Given the description of an element on the screen output the (x, y) to click on. 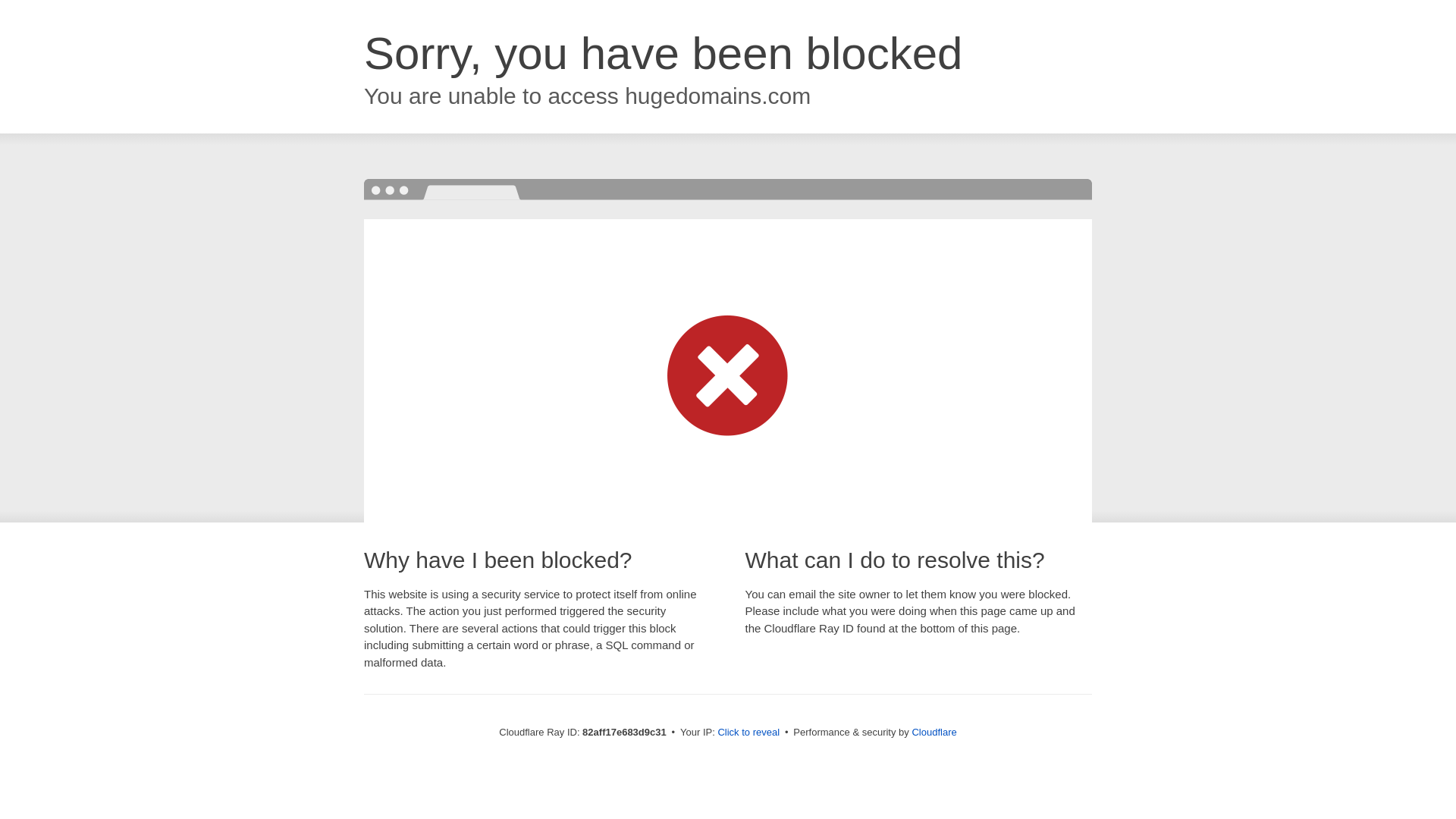
Click to reveal Element type: text (748, 732)
Cloudflare Element type: text (933, 731)
